Given the description of an element on the screen output the (x, y) to click on. 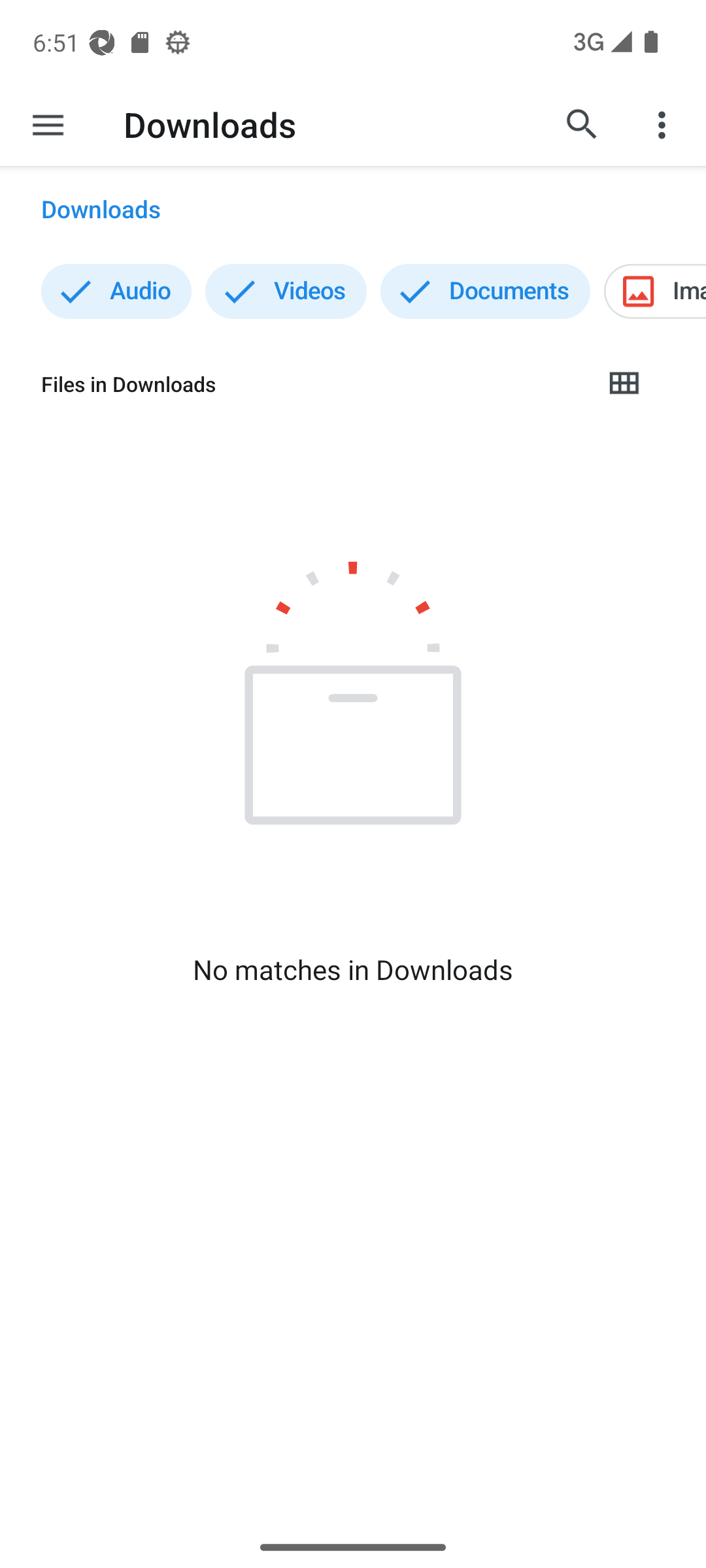
Show roots (48, 124)
Search (581, 124)
More options (664, 124)
Audio (115, 291)
Videos (285, 291)
Documents (485, 291)
Images (655, 291)
Grid view (623, 383)
